Given the description of an element on the screen output the (x, y) to click on. 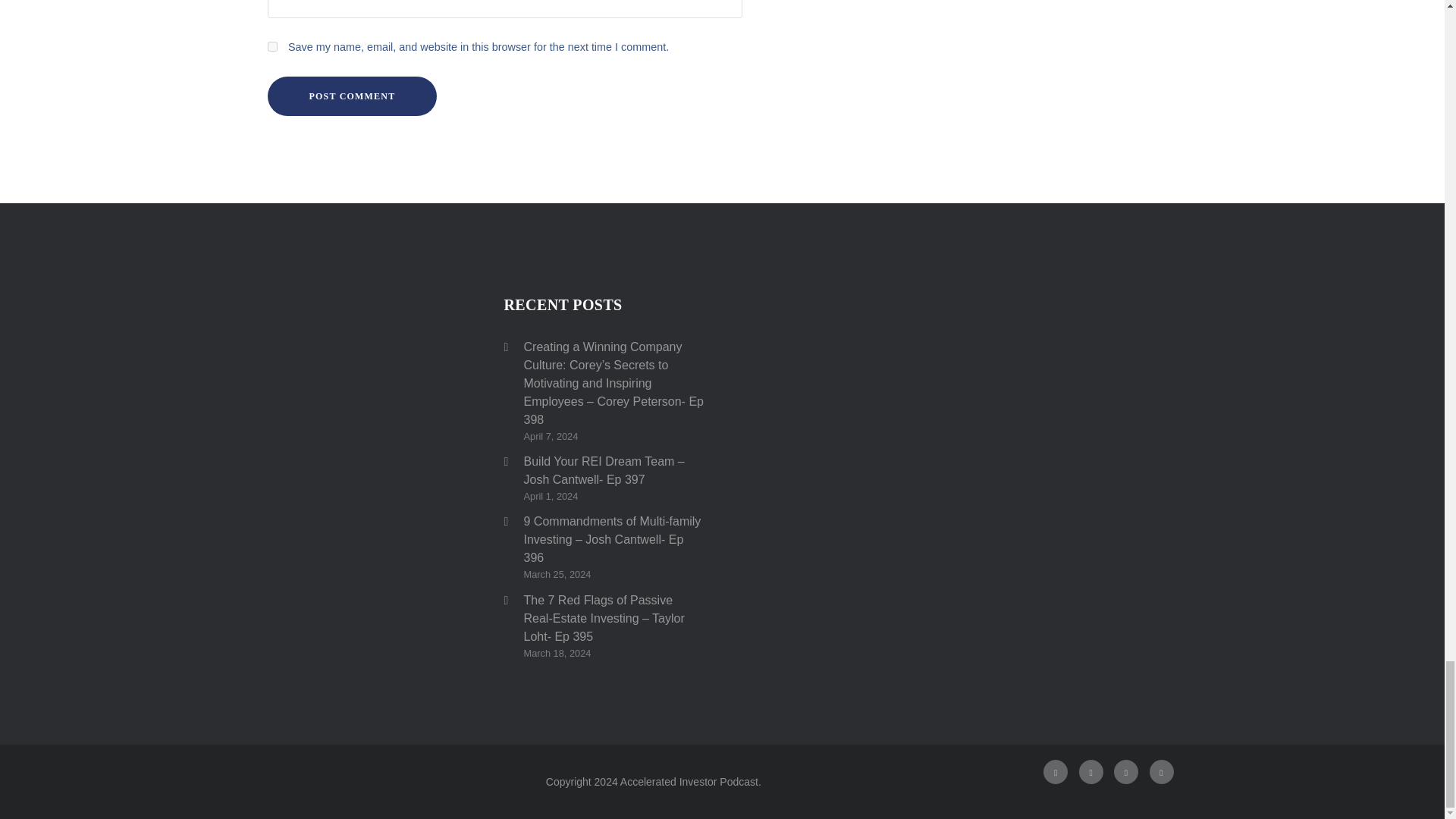
Post Comment (351, 96)
yes (271, 46)
Facebook (1055, 771)
Podcast (1125, 771)
Instagram (1090, 771)
Post Comment (351, 96)
Soundcloud (1161, 771)
